Given the description of an element on the screen output the (x, y) to click on. 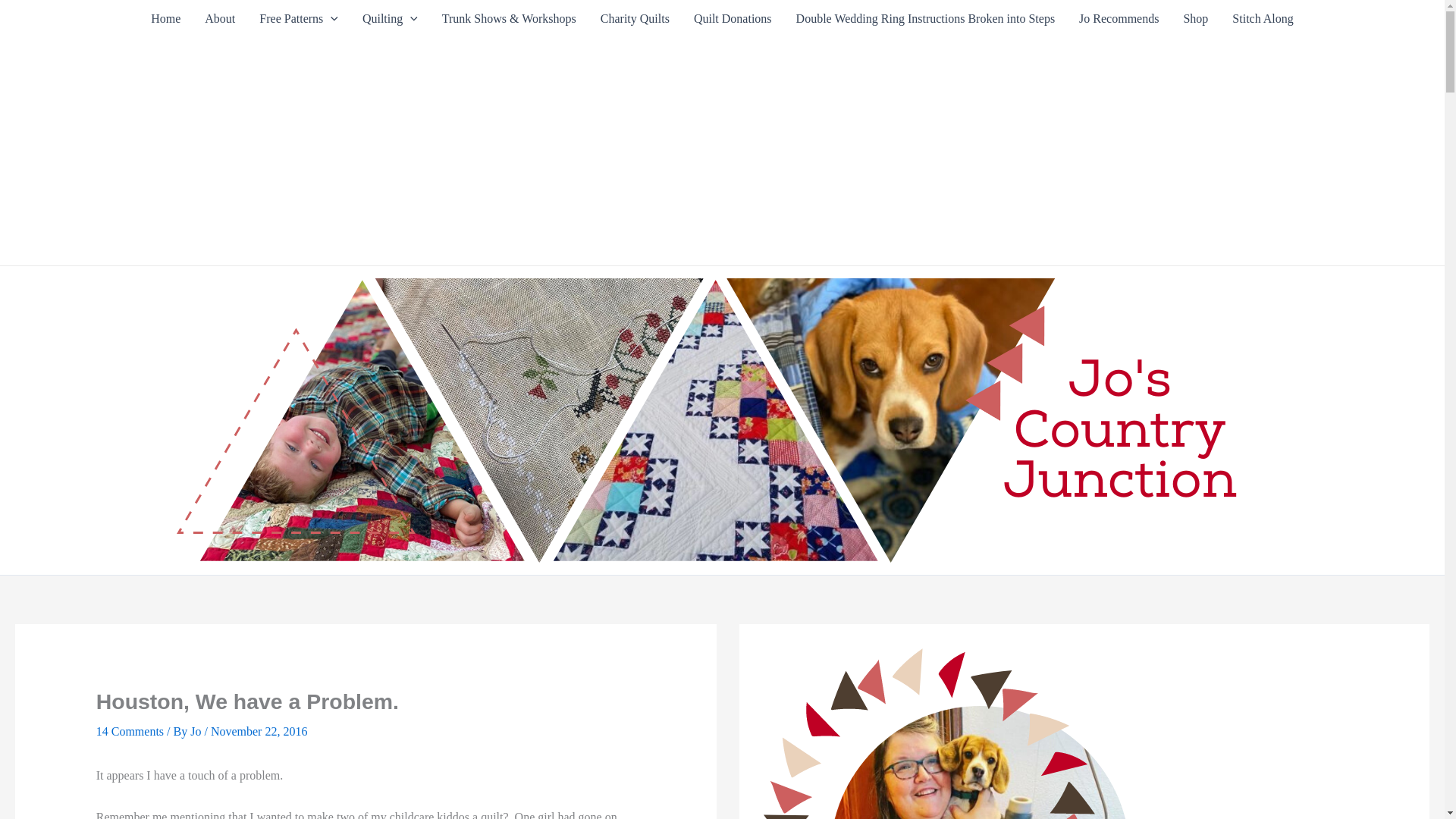
View all posts by Jo (196, 730)
Quilts of 2012 (389, 18)
Home (165, 18)
Quilt Donations (732, 18)
Charity Quilts (634, 18)
About (219, 18)
Quilting (389, 18)
Free Patterns (298, 18)
